Given the description of an element on the screen output the (x, y) to click on. 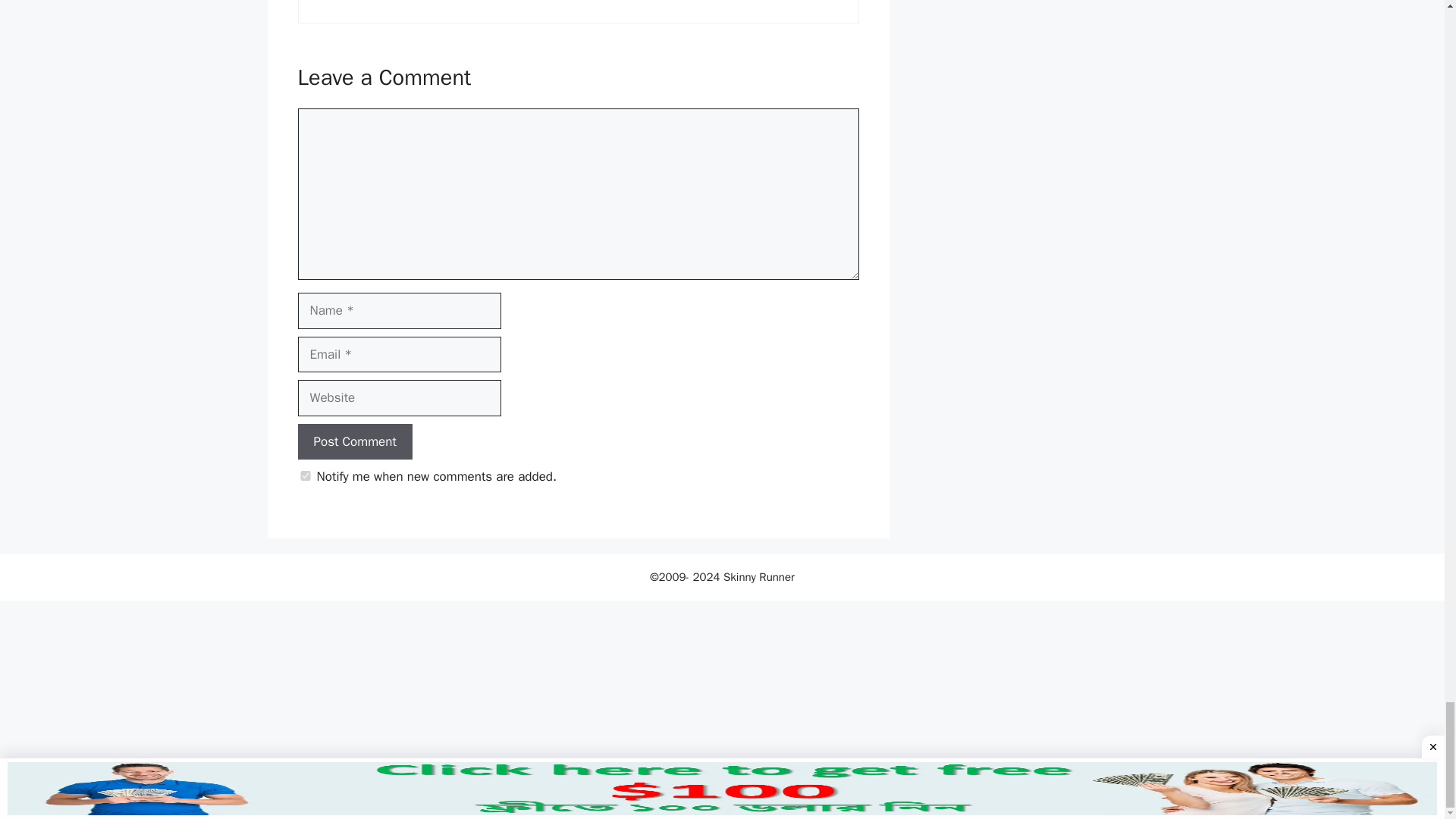
1 (305, 475)
Post Comment (354, 442)
